Given the description of an element on the screen output the (x, y) to click on. 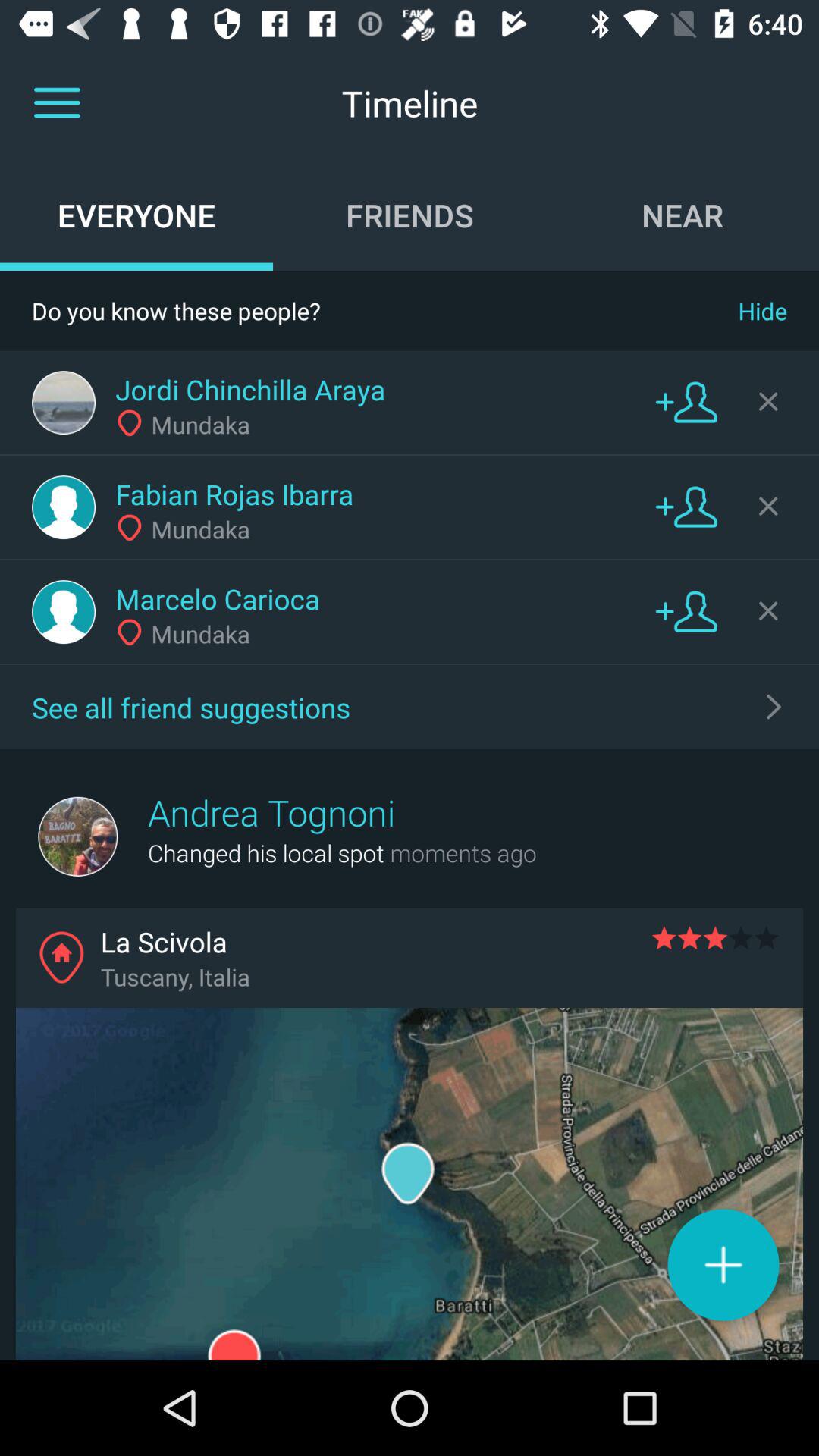
press the la scivola (375, 941)
